Given the description of an element on the screen output the (x, y) to click on. 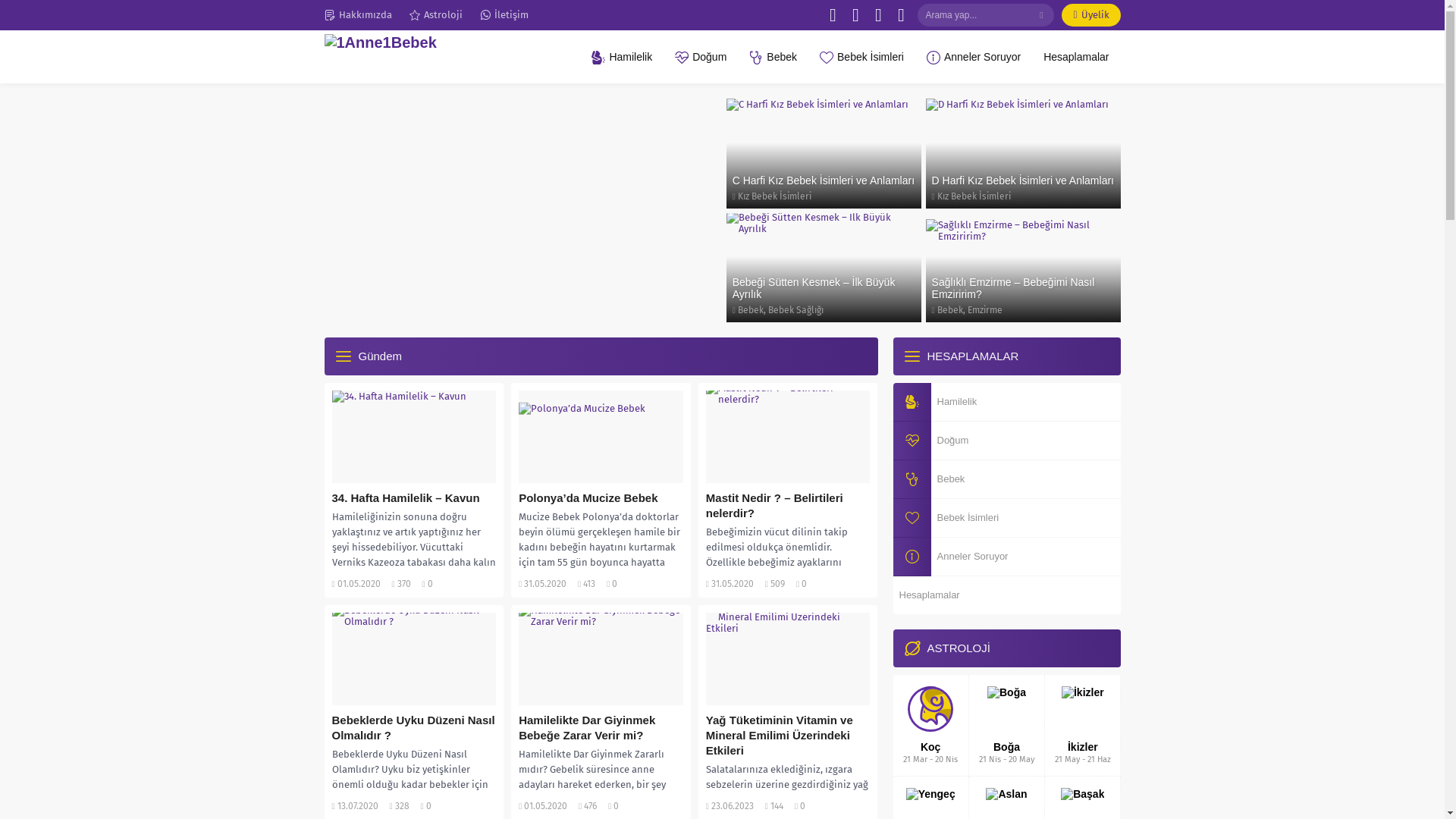
0 Element type: text (614, 583)
Anneler Soruyor Element type: text (1006, 556)
0 Element type: text (430, 583)
Instagram Element type: hover (900, 15)
Hamilelik Element type: text (1006, 401)
Pinterest Element type: hover (878, 15)
0 Element type: text (428, 805)
Twitter Element type: hover (855, 15)
Bebek Element type: text (1006, 479)
Bebek Element type: text (772, 56)
0 Element type: text (803, 583)
Hesaplamalar Element type: text (1076, 56)
Anneler Soruyor Element type: text (973, 56)
Astroloji Element type: text (435, 14)
Bebek Element type: text (750, 309)
Hamilelik Element type: text (621, 56)
1Anne1Bebek - Anasayfa Element type: hover (411, 56)
Hesaplamalar Element type: text (1006, 595)
0 Element type: text (615, 805)
Bebek Element type: text (950, 309)
0 Element type: text (802, 805)
Emzirme Element type: text (984, 309)
Facebook Element type: hover (832, 15)
